Given the description of an element on the screen output the (x, y) to click on. 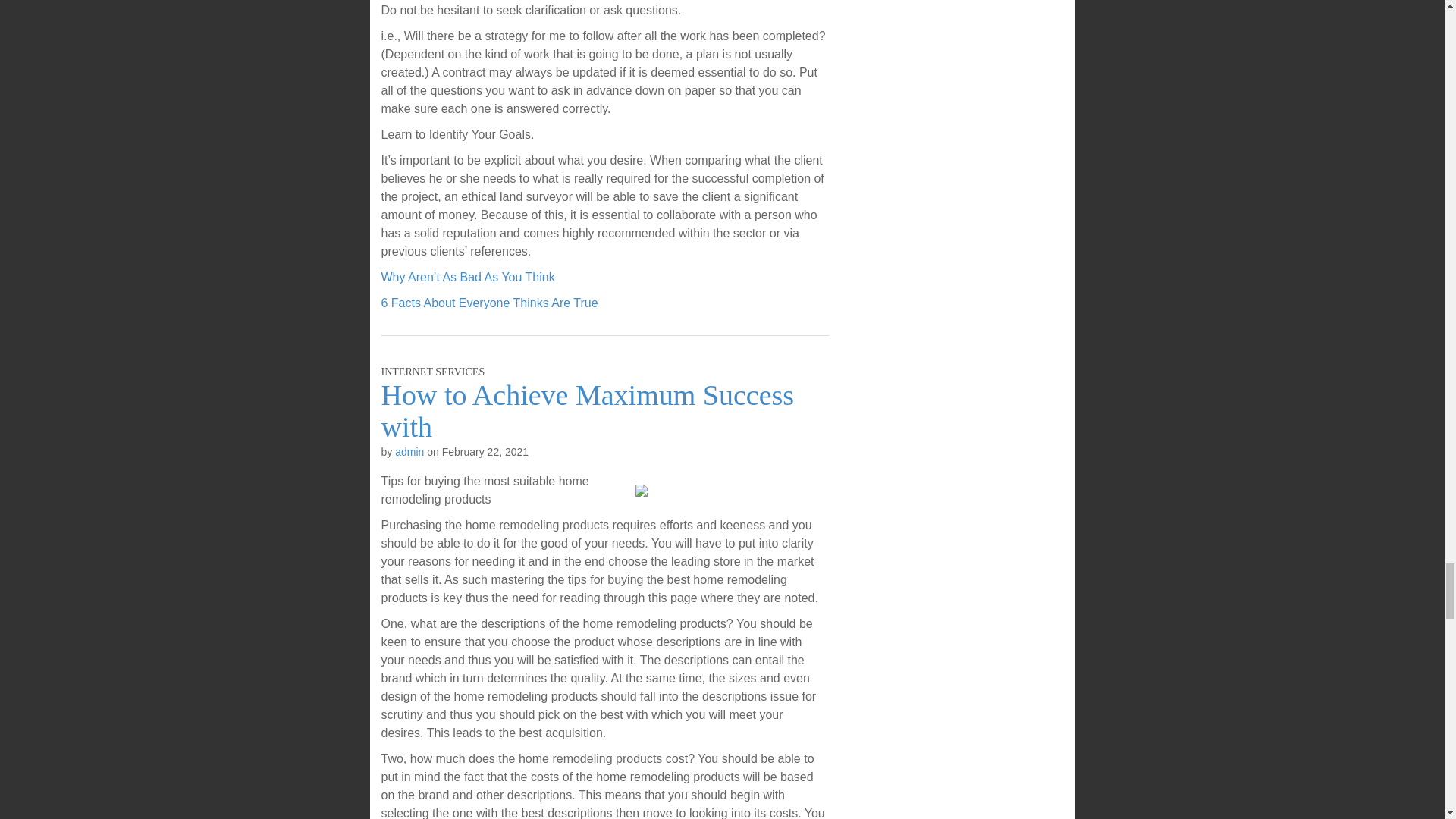
Posts by admin (408, 451)
